Given the description of an element on the screen output the (x, y) to click on. 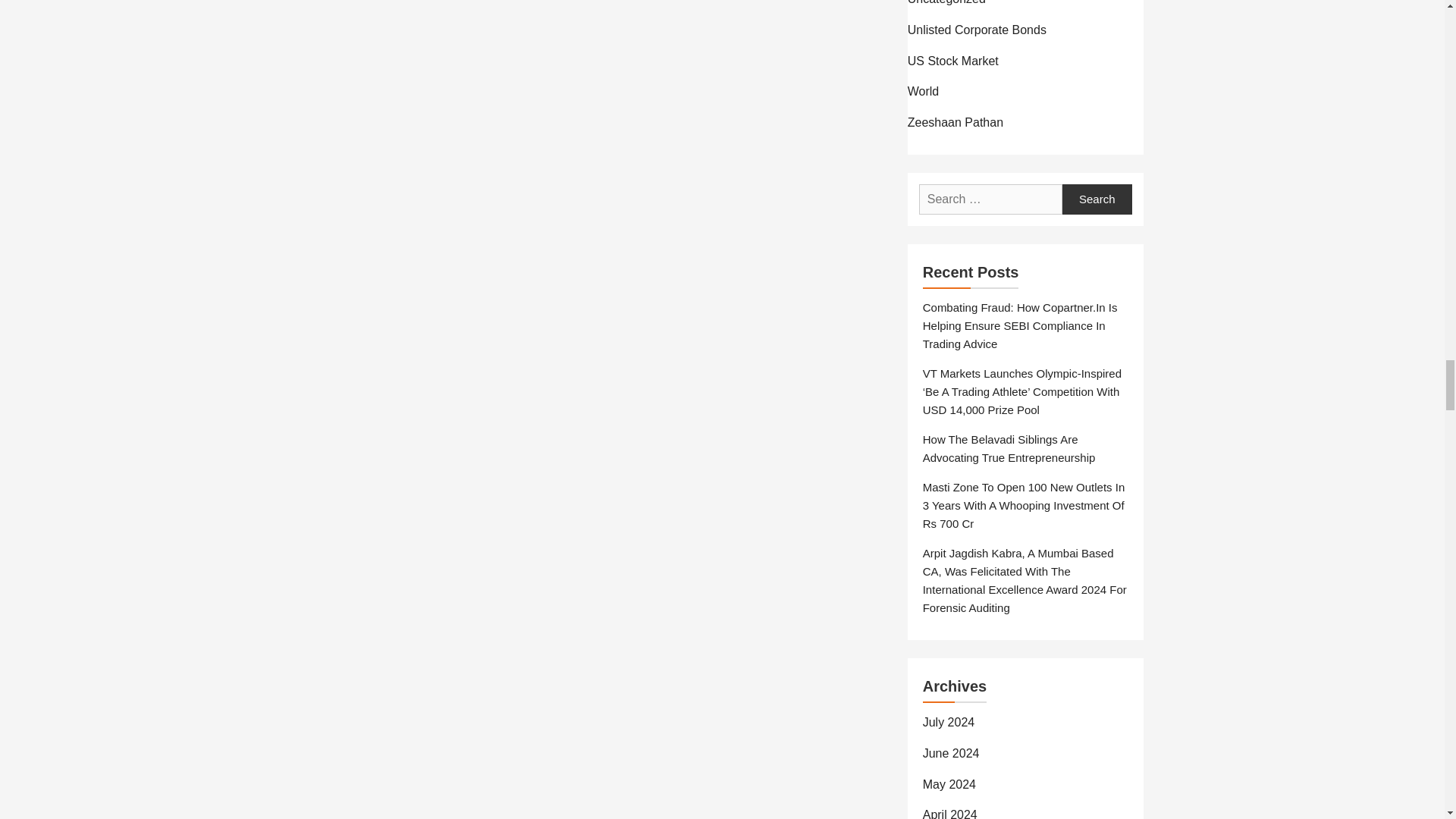
Search (1097, 199)
Search (1097, 199)
